Given the description of an element on the screen output the (x, y) to click on. 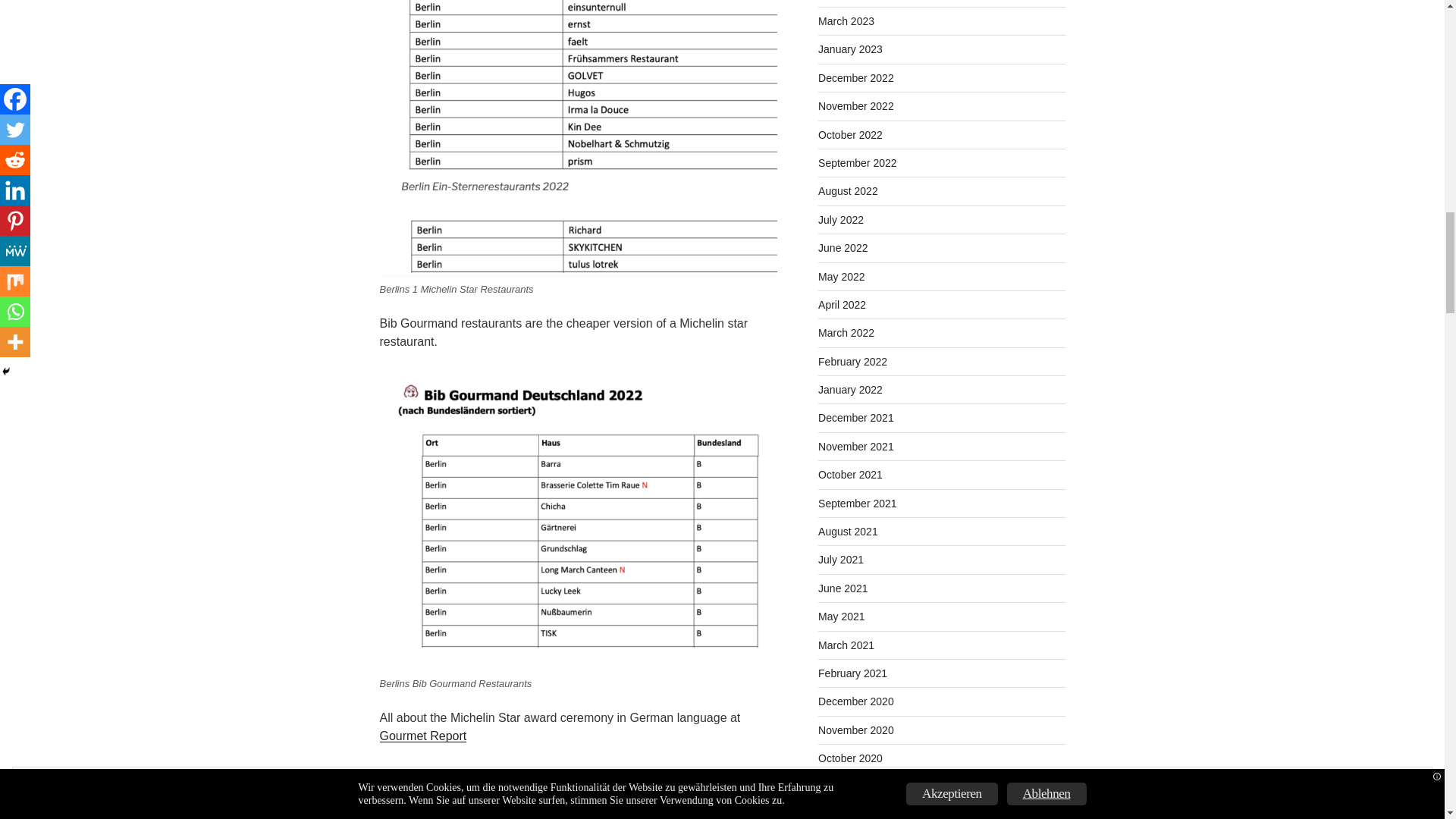
Gourmet Report (421, 735)
